Given the description of an element on the screen output the (x, y) to click on. 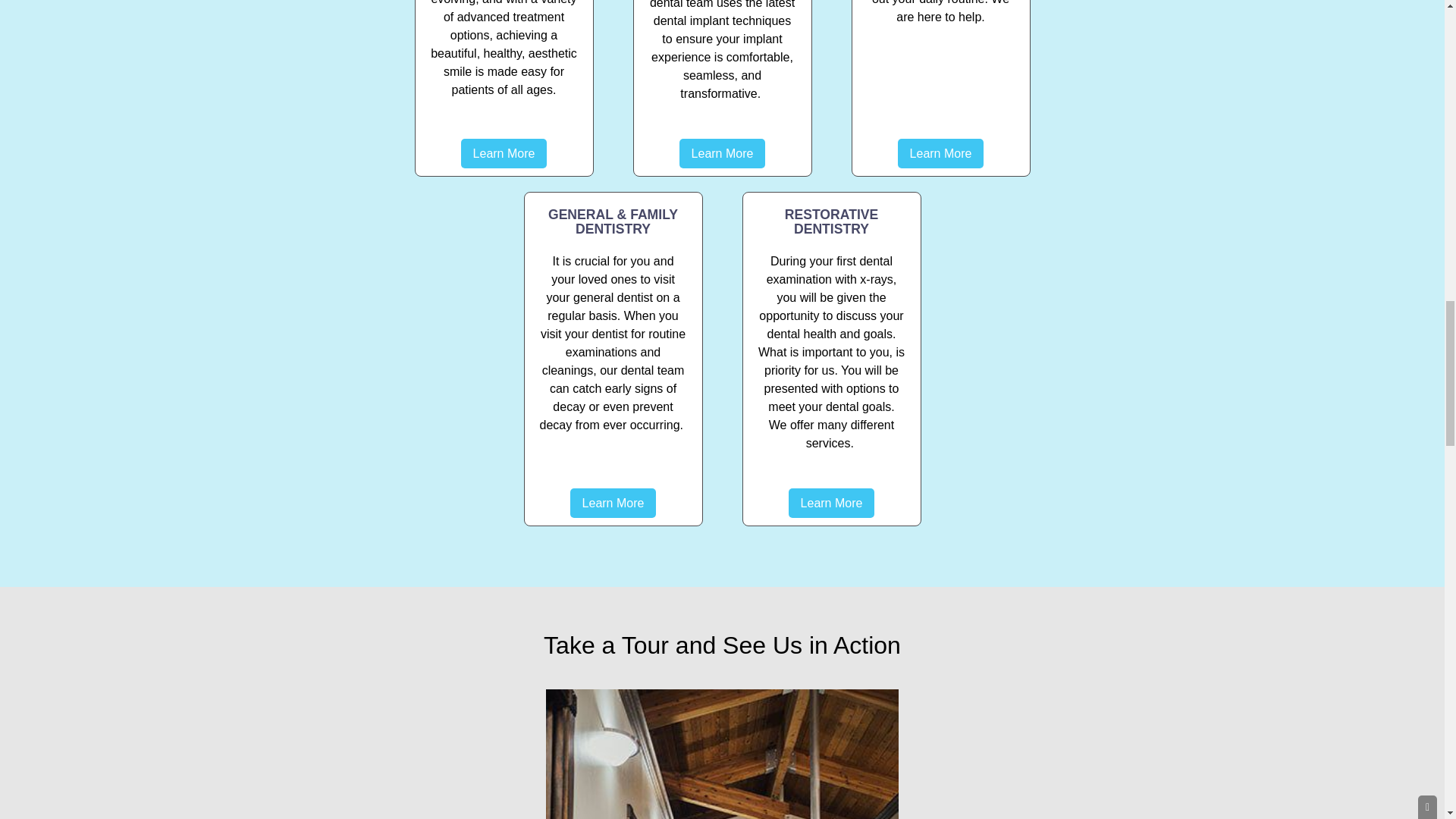
Learn More (722, 153)
Learn More (832, 502)
Learn More (504, 153)
Learn More (941, 153)
Learn More (613, 502)
